Given the description of an element on the screen output the (x, y) to click on. 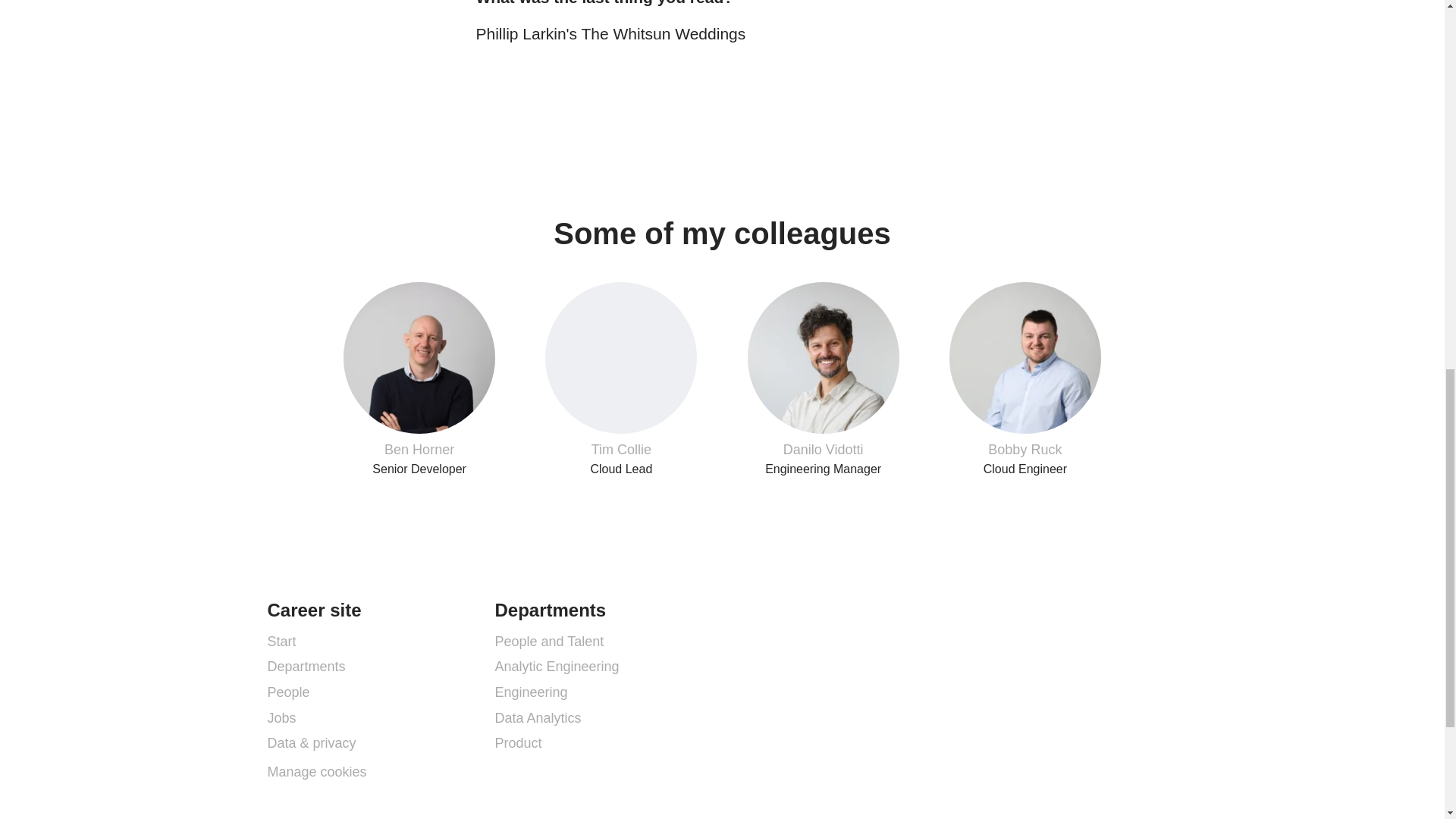
People (287, 691)
Manage cookies (620, 379)
People and Talent (316, 772)
Start (549, 640)
Departments (280, 640)
Data Analytics (305, 666)
Jobs (537, 717)
Analytic Engineering (822, 379)
Product (280, 717)
Engineering (556, 666)
